Given the description of an element on the screen output the (x, y) to click on. 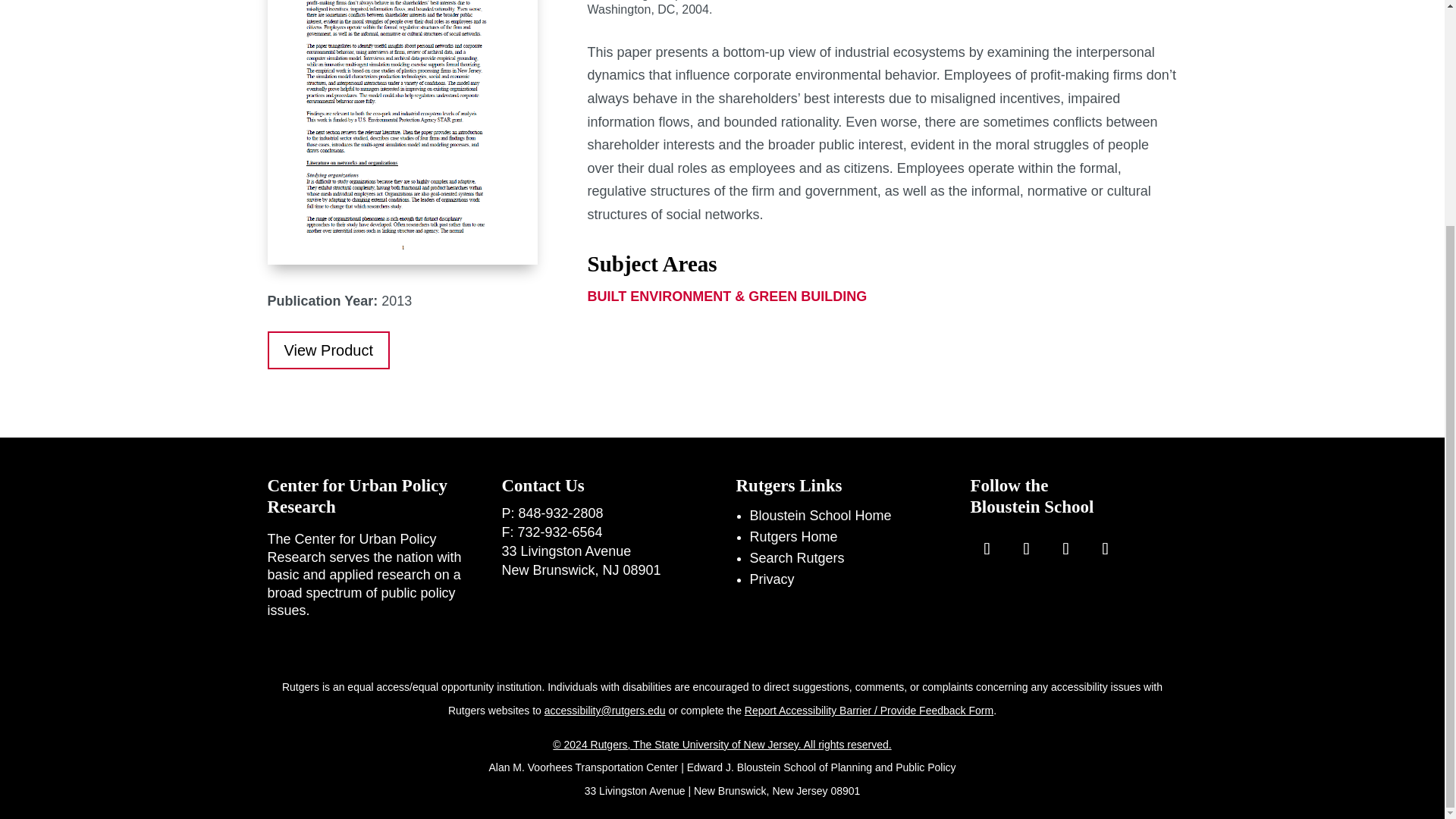
Follow on Instagram (1026, 548)
A Multi-Agent Model of a Small Firm (401, 132)
Follow on LinkedIn (1105, 548)
Follow on Facebook (987, 548)
Follow on Twitter (1066, 548)
